Given the description of an element on the screen output the (x, y) to click on. 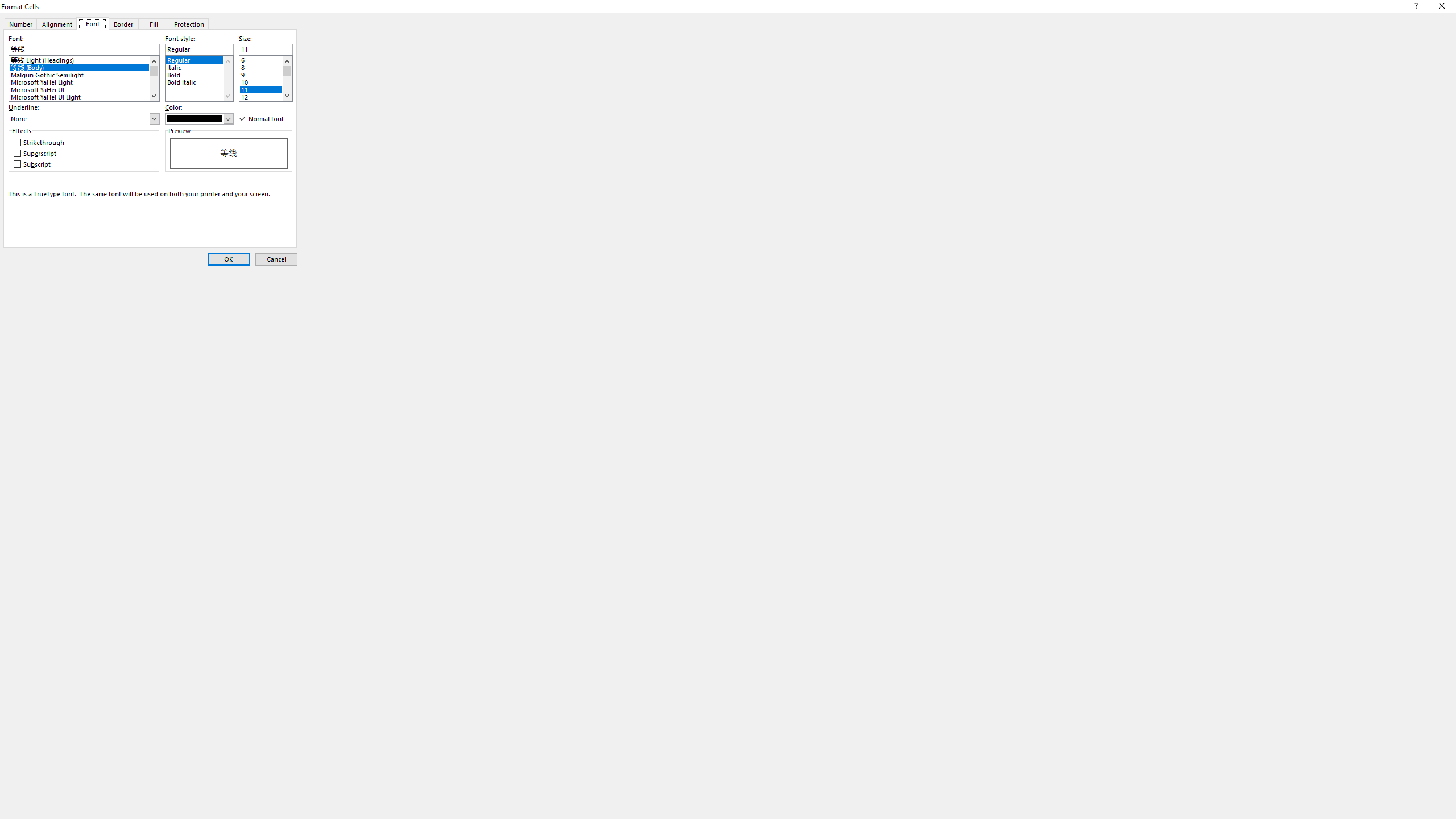
Bold (199, 72)
10 (265, 80)
Bold Italic (199, 80)
Border (122, 23)
OK (228, 259)
Protection (188, 23)
Malgun Gothic Semilight (84, 72)
Cancel (276, 259)
Number (19, 23)
AutomationID: 4670 (227, 78)
11 (265, 87)
Microsoft YaHei UI (84, 87)
Superscript (35, 153)
